Given the description of an element on the screen output the (x, y) to click on. 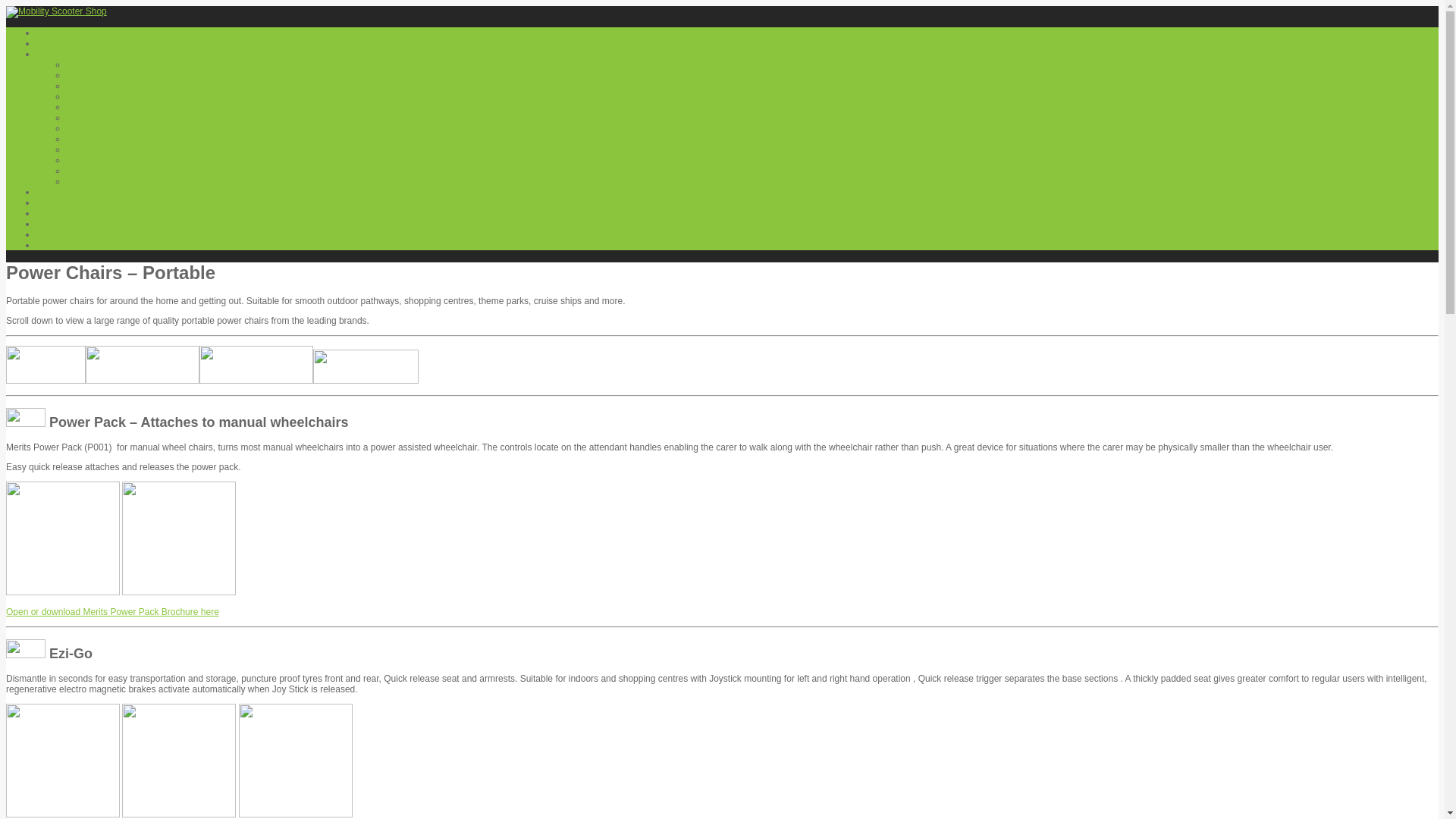
Links Element type: text (46, 234)
News Element type: text (47, 212)
Mobility Scooter Shop Element type: hover (56, 11)
Electric Lift Chairs Element type: text (103, 138)
Stair Lifts Element type: text (85, 149)
FAQ Element type: text (45, 202)
About Element type: text (47, 191)
Golf Scooters Element type: text (94, 96)
Walkers Element type: text (82, 170)
Product Range Element type: text (66, 53)
Mobility Aids & Accessories Element type: text (121, 180)
Portable Scooters Element type: text (102, 64)
Store Location Element type: text (65, 42)
Contact Us Element type: text (58, 223)
Manual Wheelchairs Element type: text (107, 159)
Power Chairs Element type: text (93, 106)
Large Scooters Element type: text (97, 85)
Mid Size Scooters Element type: text (103, 74)
Open or download Merits Power Pack Brochure here Element type: text (112, 611)
Shop Online Element type: text (61, 244)
Home Element type: text (48, 32)
